Given the description of an element on the screen output the (x, y) to click on. 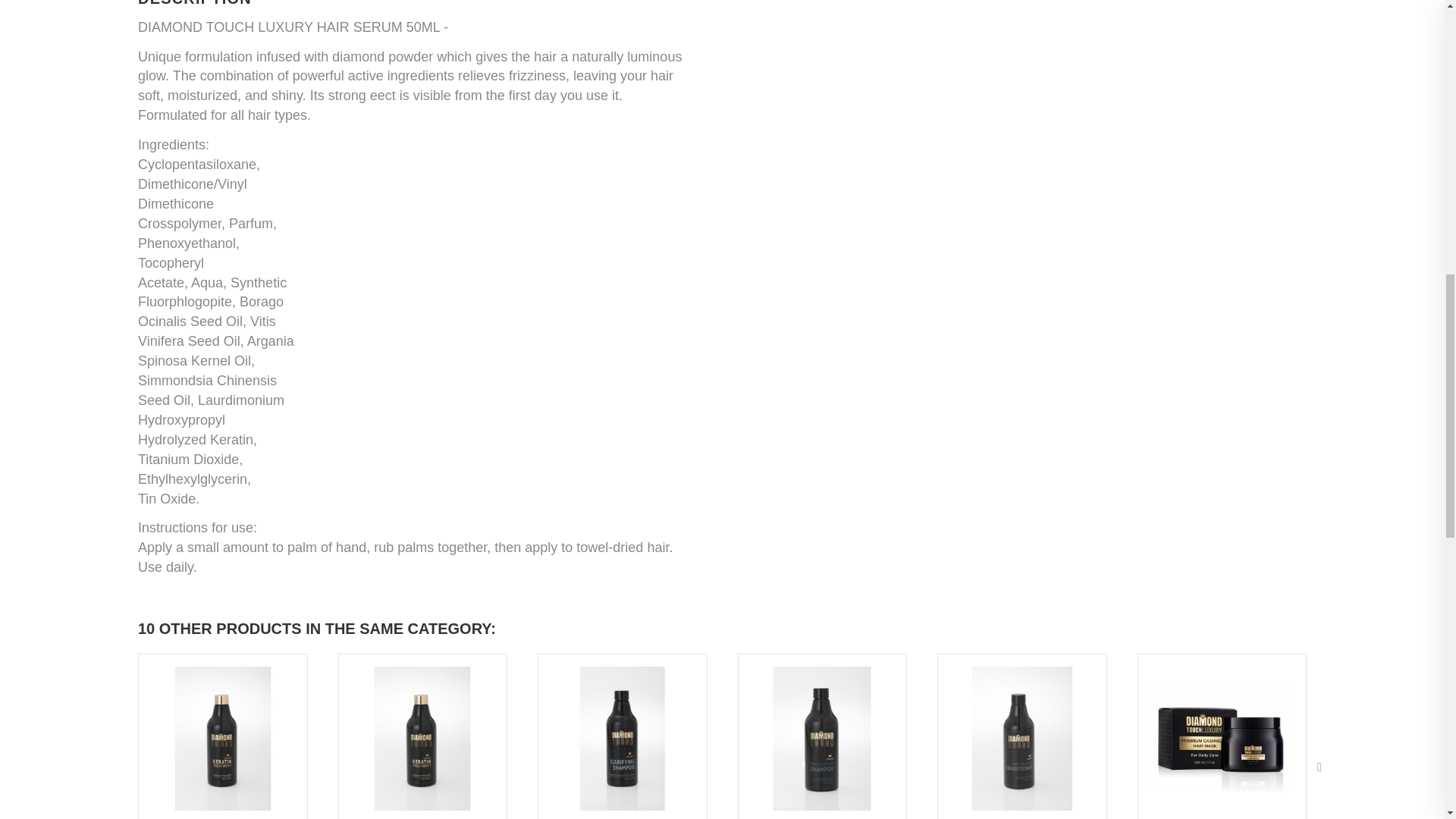
DIAMOND KERATIN TREATMENT 500ML (222, 736)
